Given the description of an element on the screen output the (x, y) to click on. 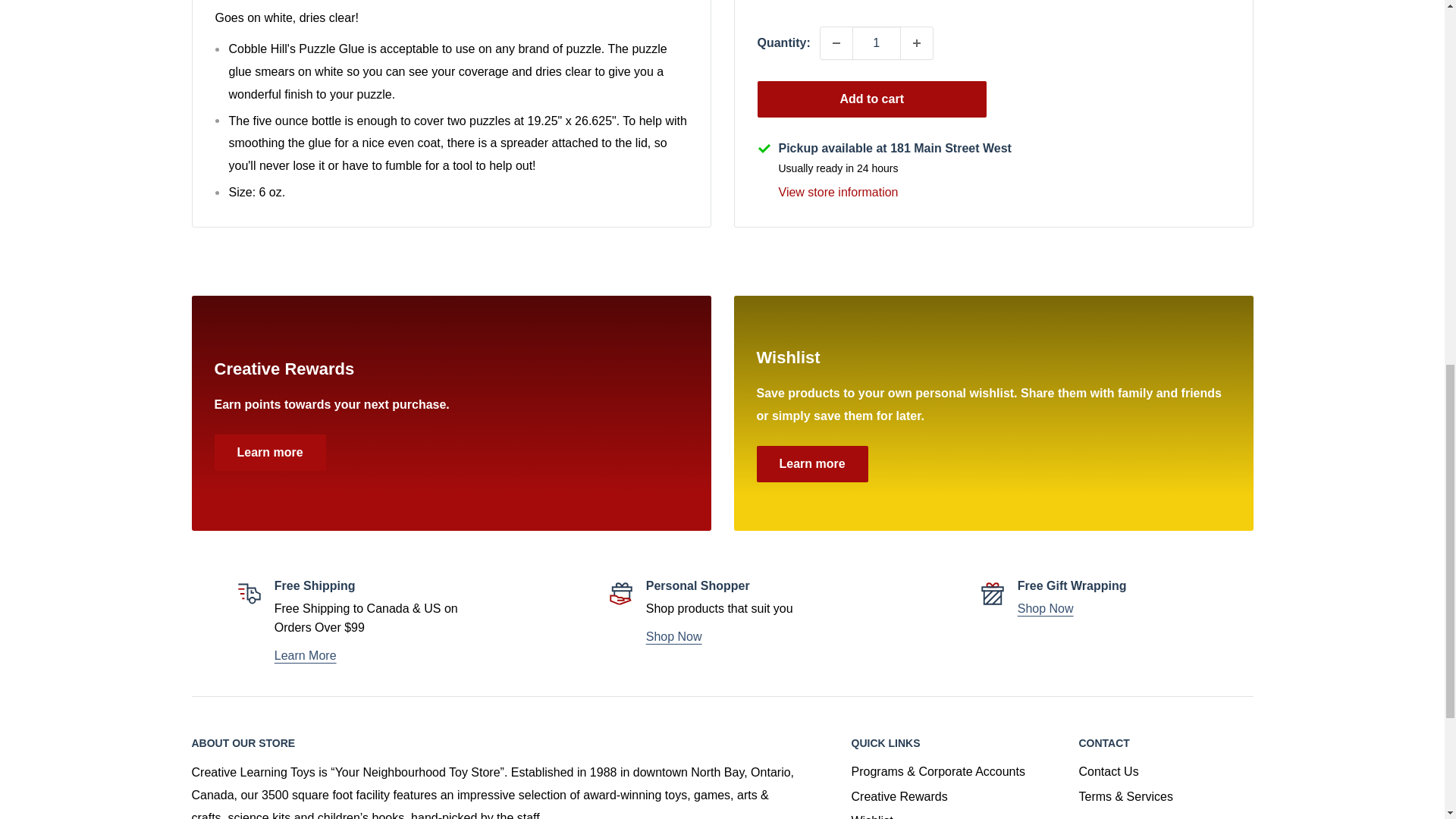
Personal Shopper (673, 635)
Personal Shopper (1045, 608)
